Given the description of an element on the screen output the (x, y) to click on. 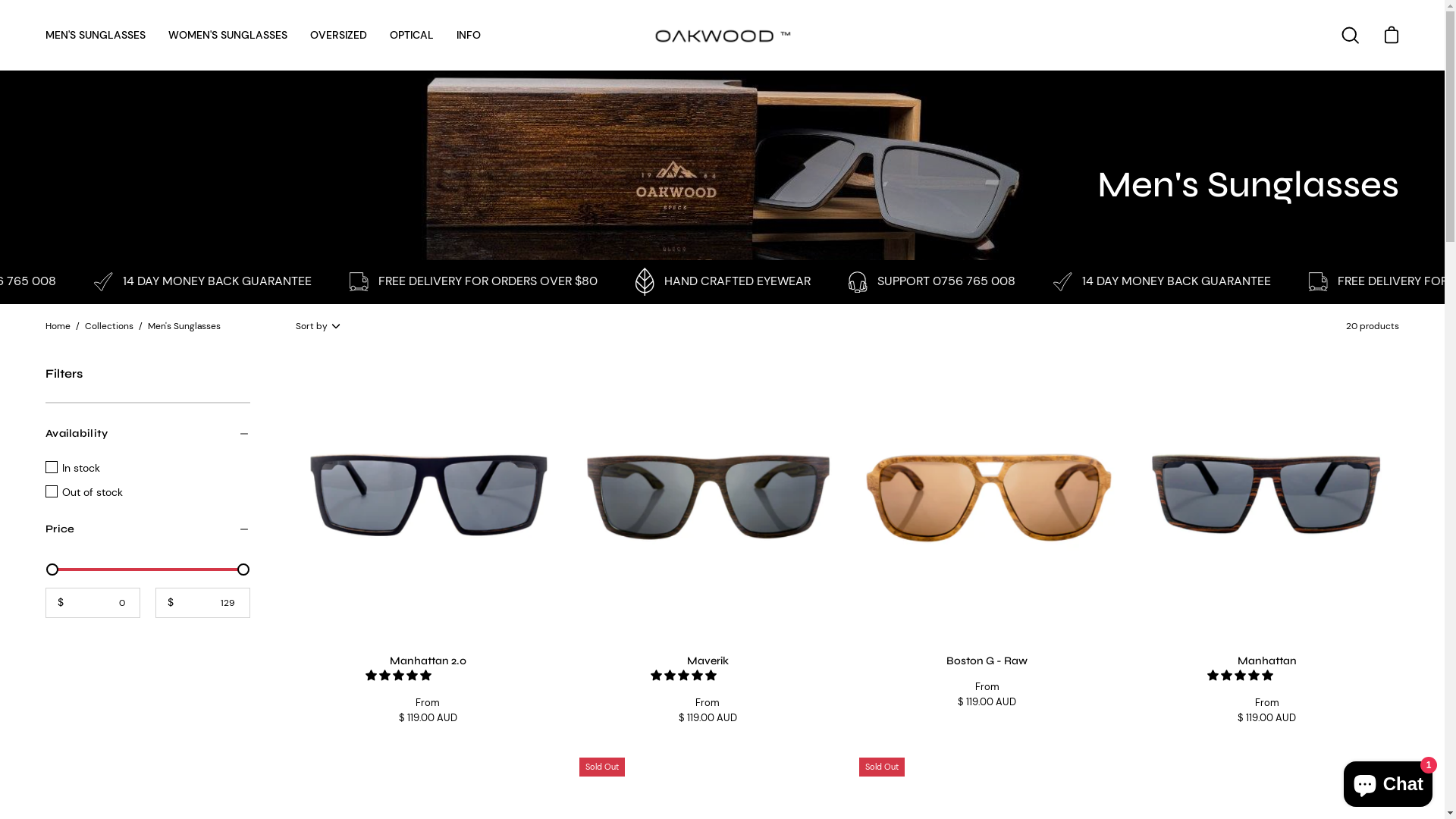
From
$ 119.00 AUD Element type: text (707, 710)
Home Element type: text (57, 326)
MEN'S SUNGLASSES Element type: text (95, 35)
INFO Element type: text (468, 35)
Boston G - Raw Element type: text (987, 493)
Maverik Element type: text (707, 493)
OVERSIZED Element type: text (338, 35)
Open cart Element type: text (1391, 34)
From
$ 119.00 AUD Element type: text (427, 710)
Shopify online store chat Element type: hover (1388, 780)
Sort by Element type: text (319, 326)
Price Element type: text (147, 529)
Manhattan 2.0 Element type: text (427, 493)
Collections Element type: text (108, 326)
From
$ 119.00 AUD Element type: text (987, 694)
Availability Element type: text (147, 433)
Manhattan Element type: text (1266, 493)
WOMEN'S SUNGLASSES Element type: text (227, 35)
OPTICAL Element type: text (411, 35)
Open search bar Element type: text (1350, 34)
From
$ 119.00 AUD Element type: text (1266, 710)
